Given the description of an element on the screen output the (x, y) to click on. 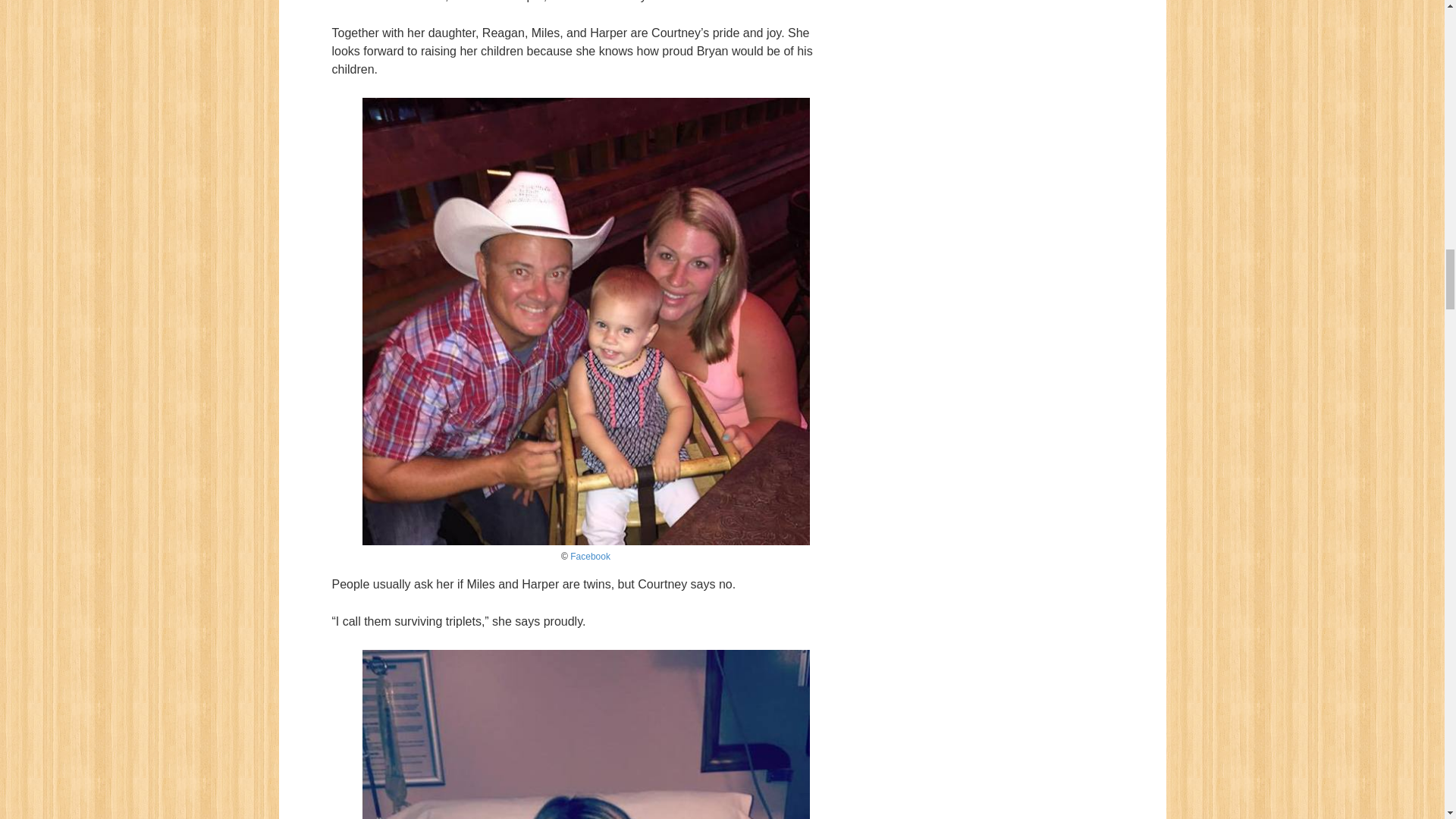
Facebook (590, 556)
